Given the description of an element on the screen output the (x, y) to click on. 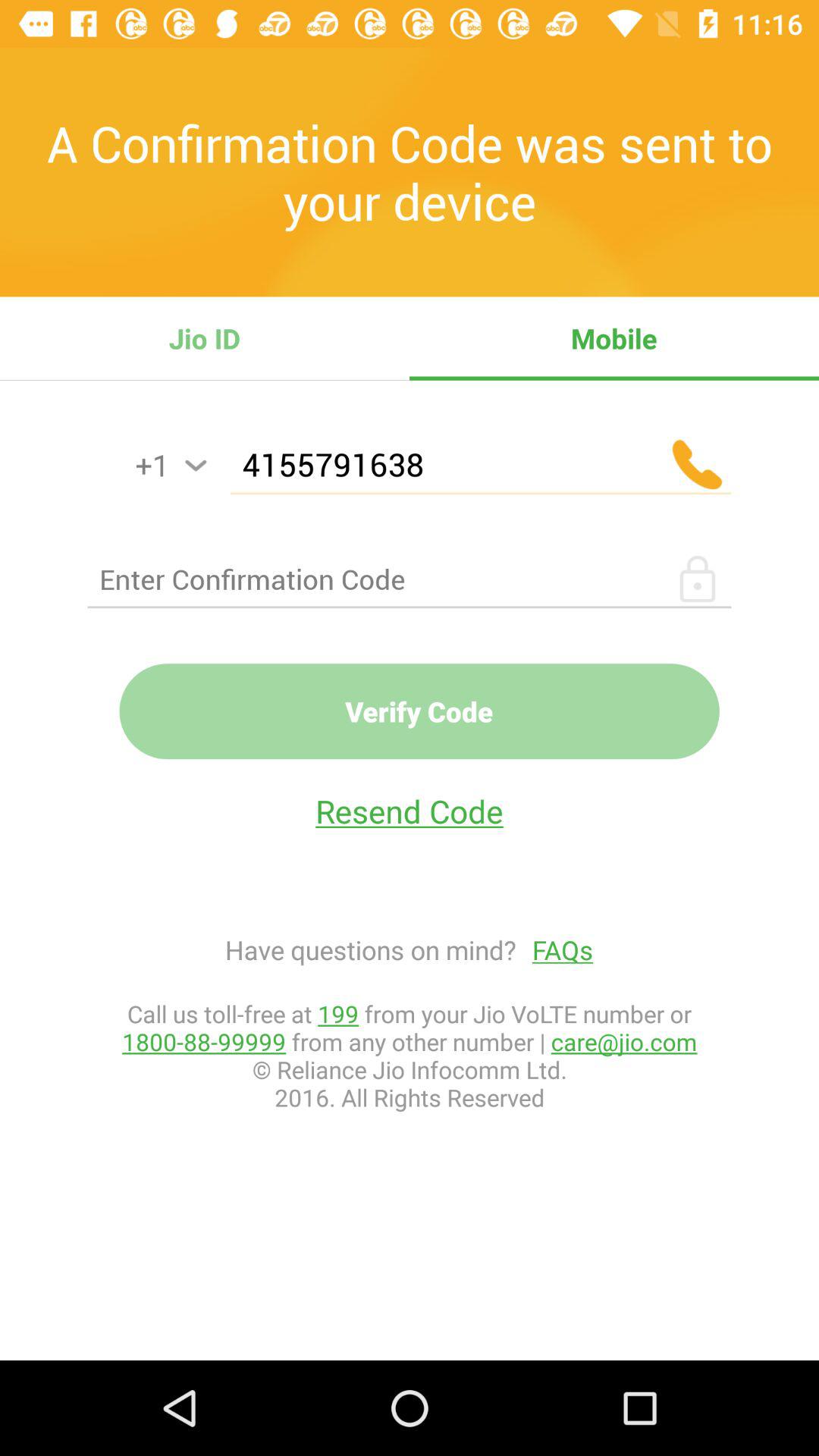
open the icon next to +1 (195, 465)
